Given the description of an element on the screen output the (x, y) to click on. 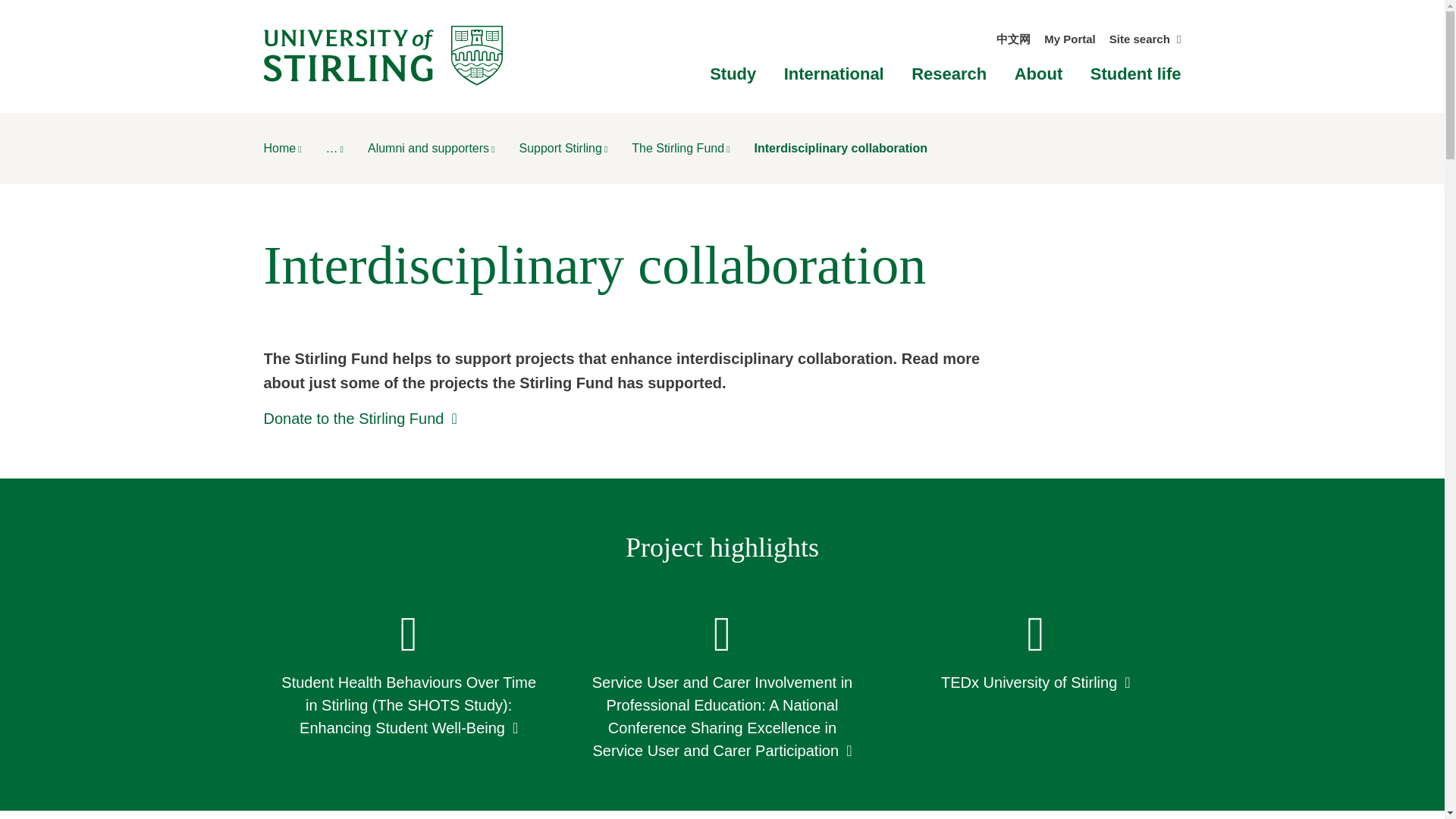
Student life (1135, 73)
Alumni and supporters (431, 147)
About (1038, 73)
home page (282, 147)
Site search (1144, 38)
My Portal (1069, 38)
Research (949, 73)
Home (282, 147)
Study (732, 73)
University of Stirling (382, 54)
